Given the description of an element on the screen output the (x, y) to click on. 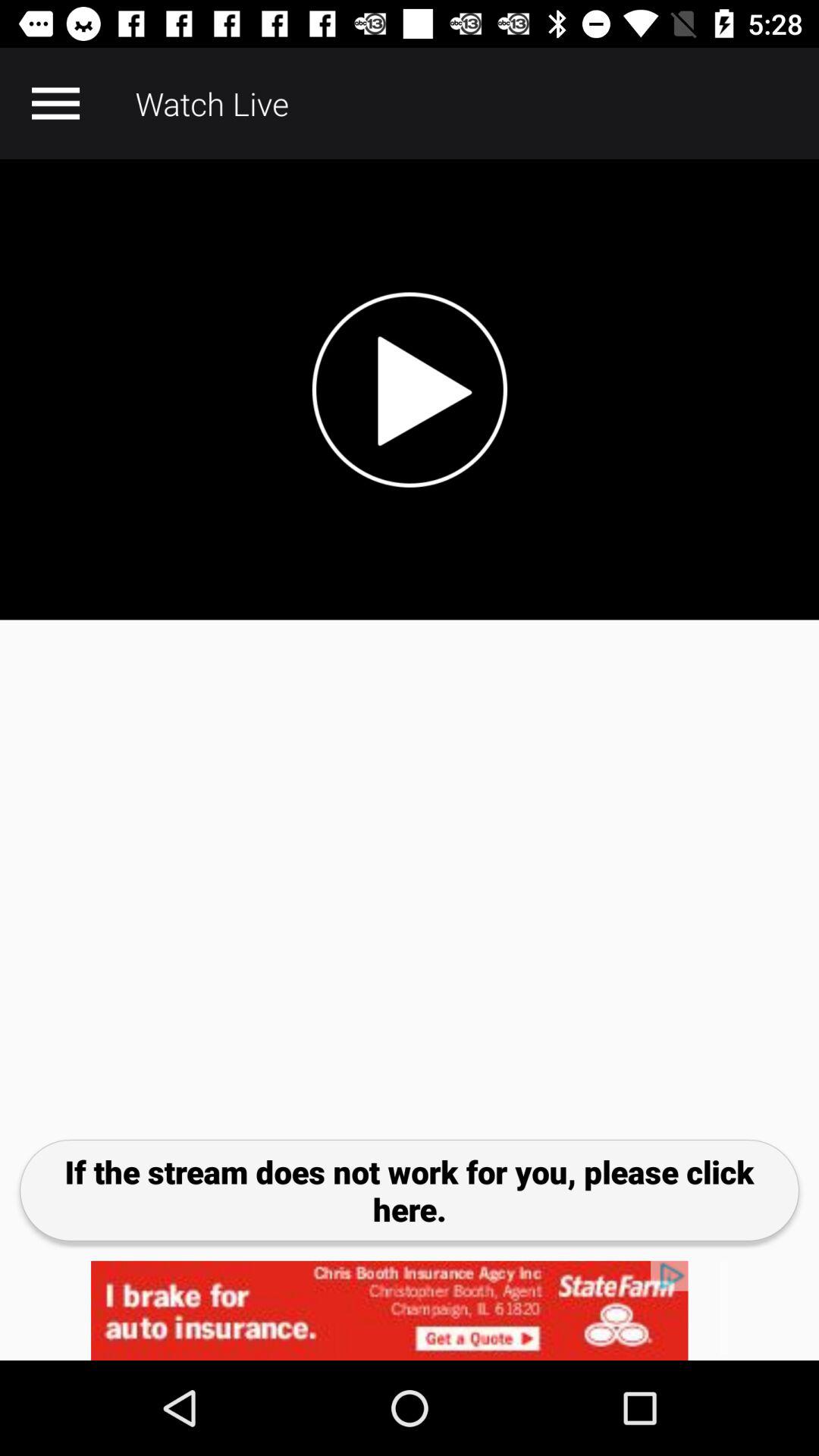
more tools (55, 103)
